Given the description of an element on the screen output the (x, y) to click on. 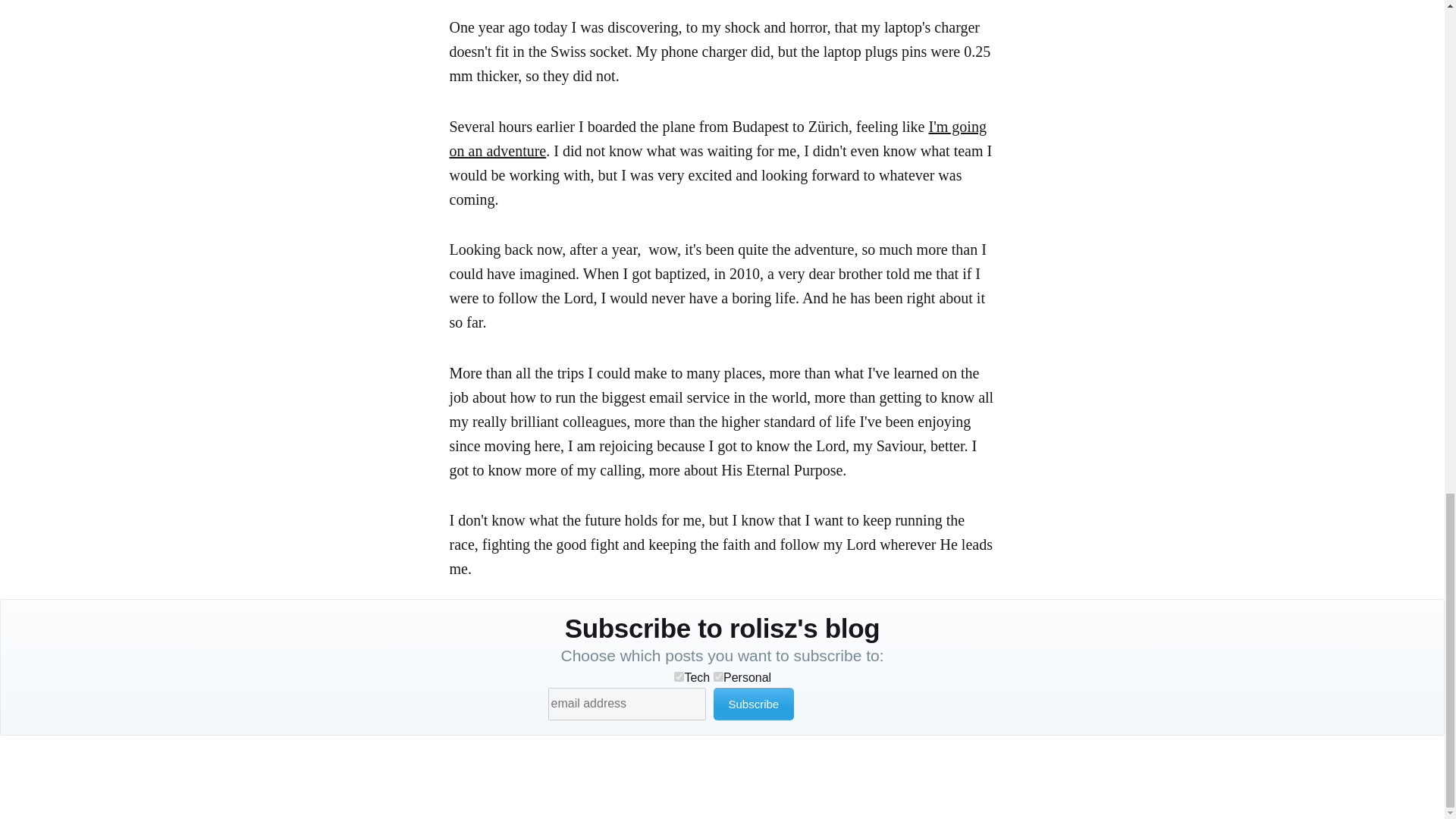
Subscribe (753, 703)
2 (718, 676)
I'm going on an adventure (716, 137)
1 (679, 676)
